Given the description of an element on the screen output the (x, y) to click on. 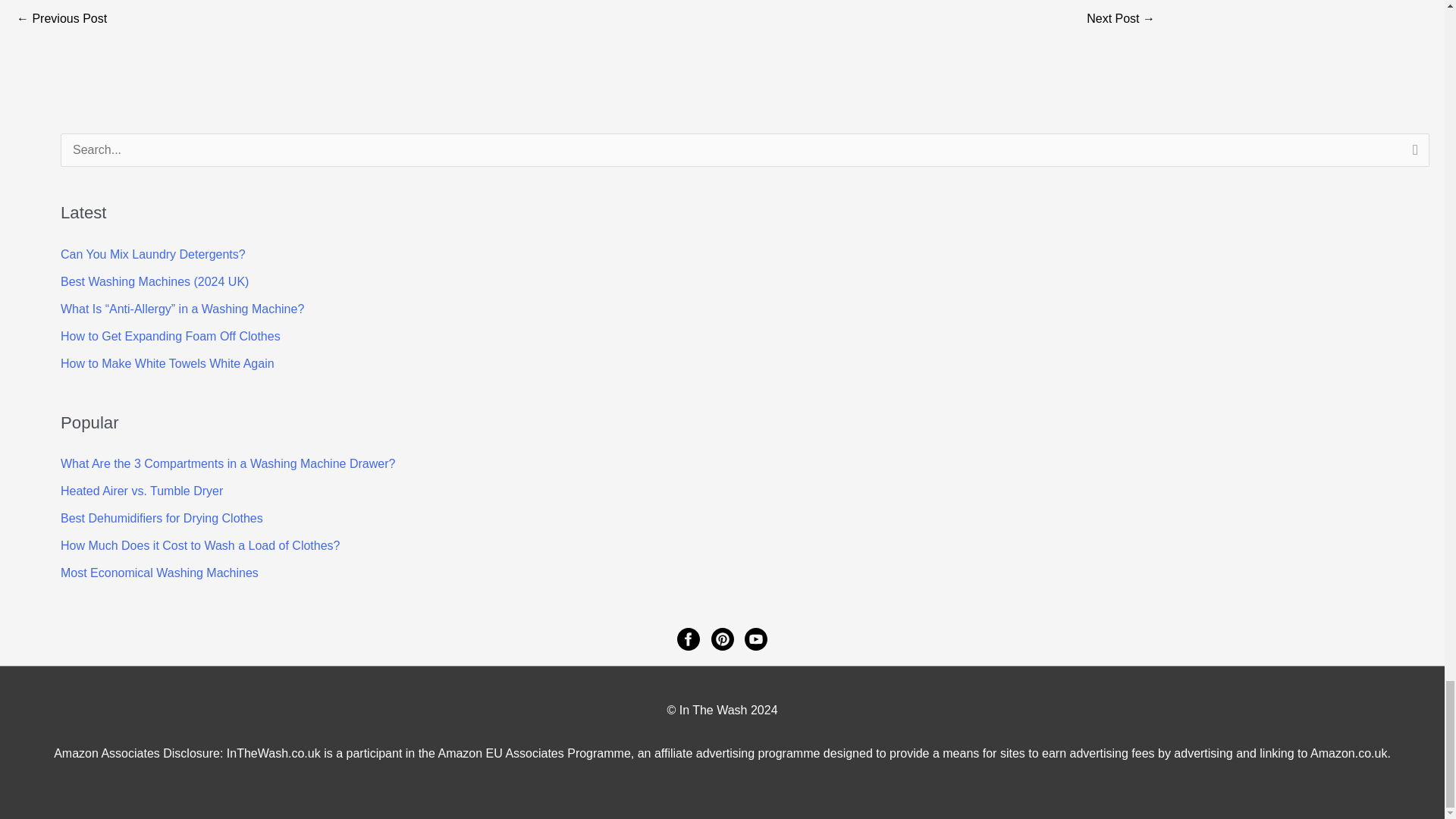
Home Remedies for a Smelly Washing Machine (61, 19)
Can You Mix Laundry Detergents? (153, 254)
